Given the description of an element on the screen output the (x, y) to click on. 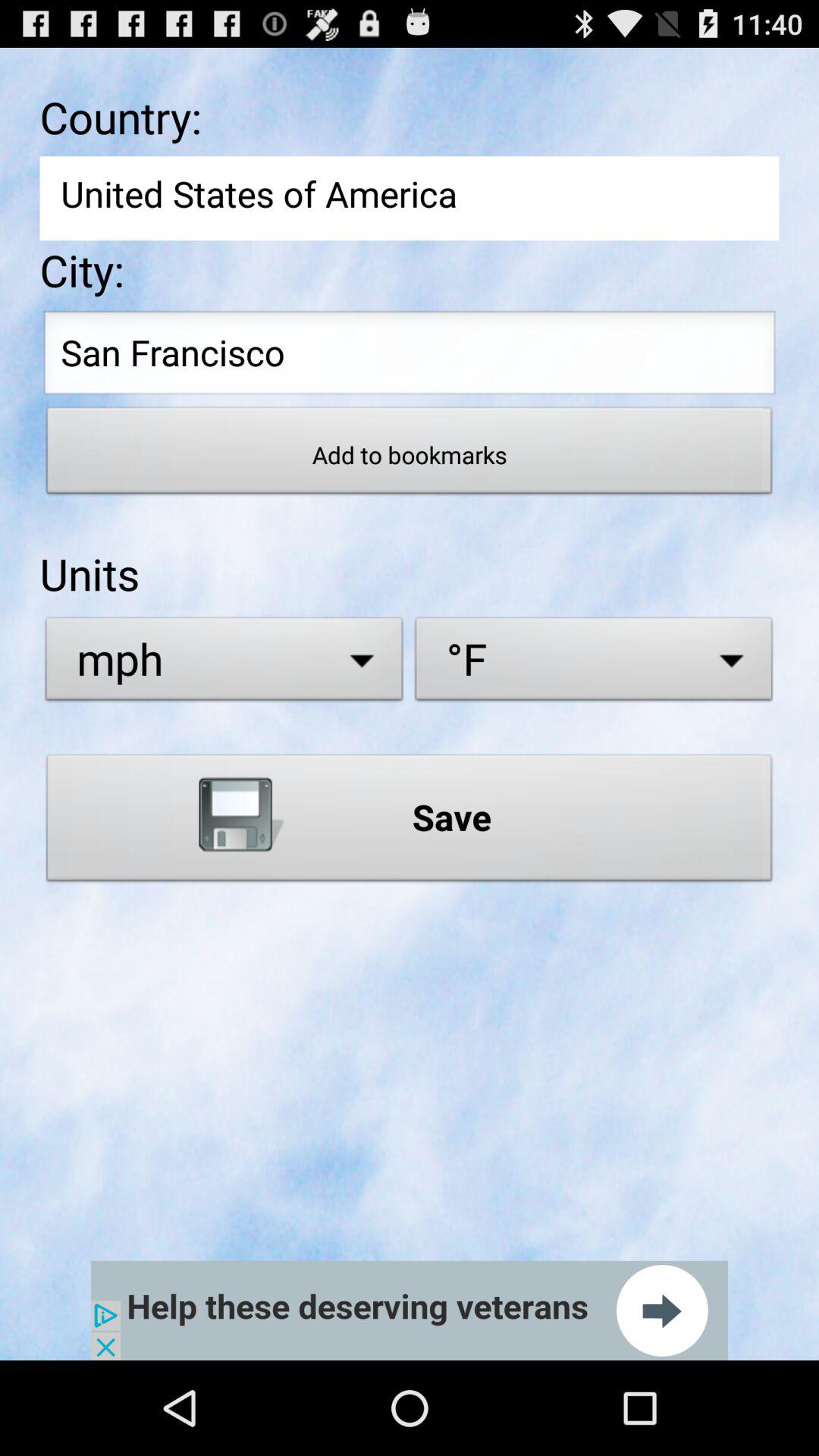
advertisement (409, 1310)
